Given the description of an element on the screen output the (x, y) to click on. 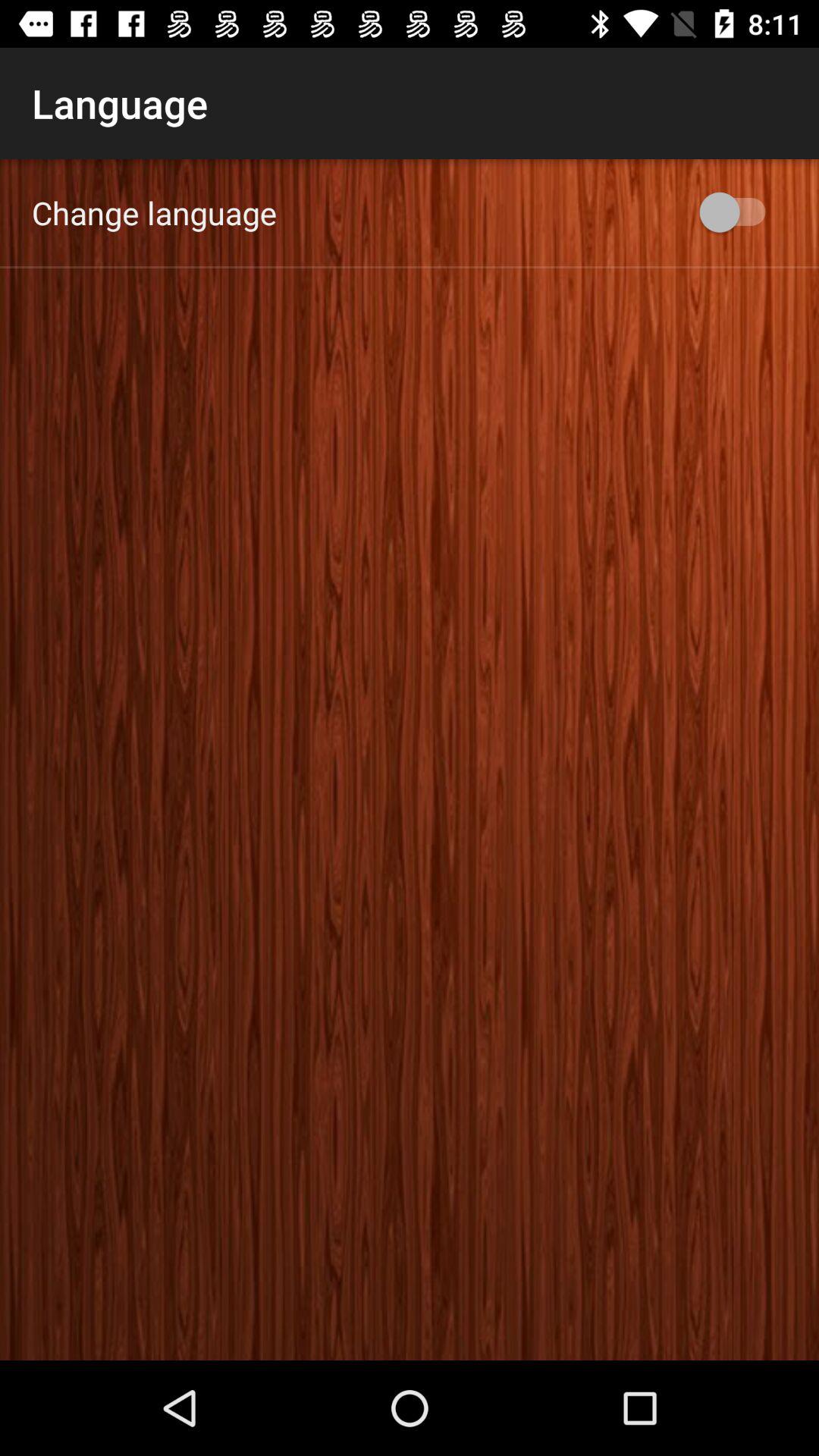
open the app next to change language app (739, 212)
